Given the description of an element on the screen output the (x, y) to click on. 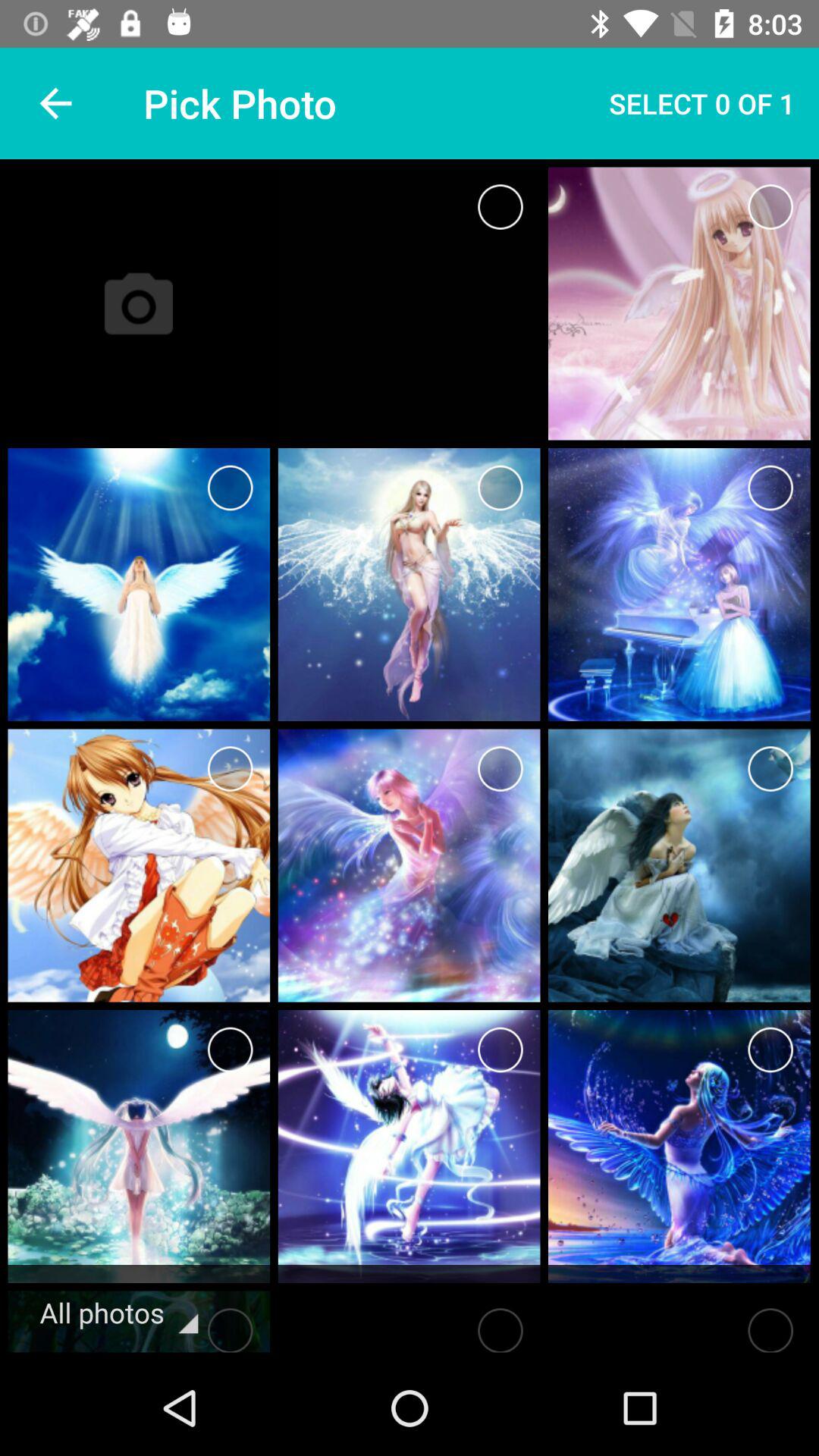
check picture (230, 1049)
